Given the description of an element on the screen output the (x, y) to click on. 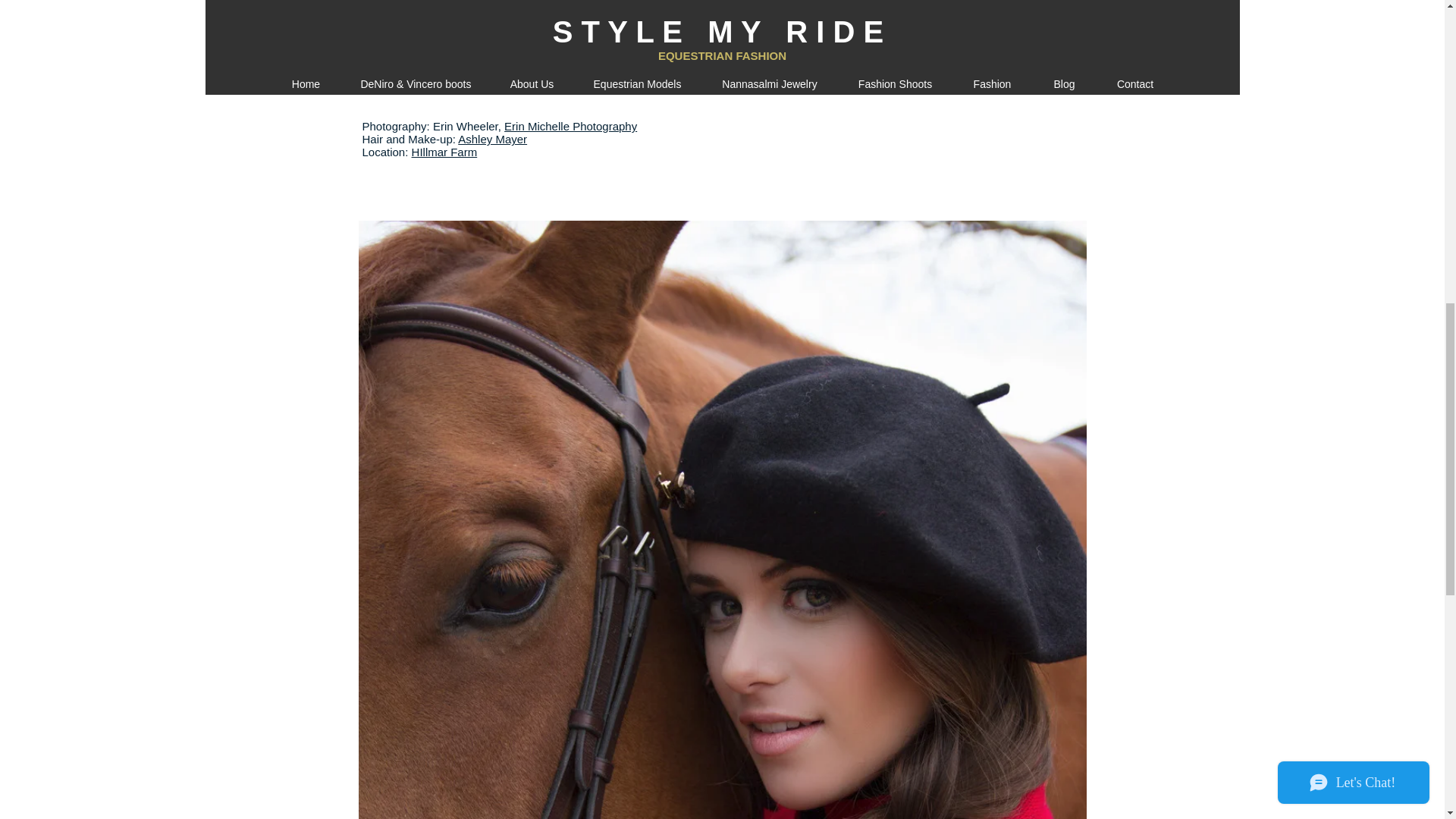
Facebook Like (991, 178)
